Given the description of an element on the screen output the (x, y) to click on. 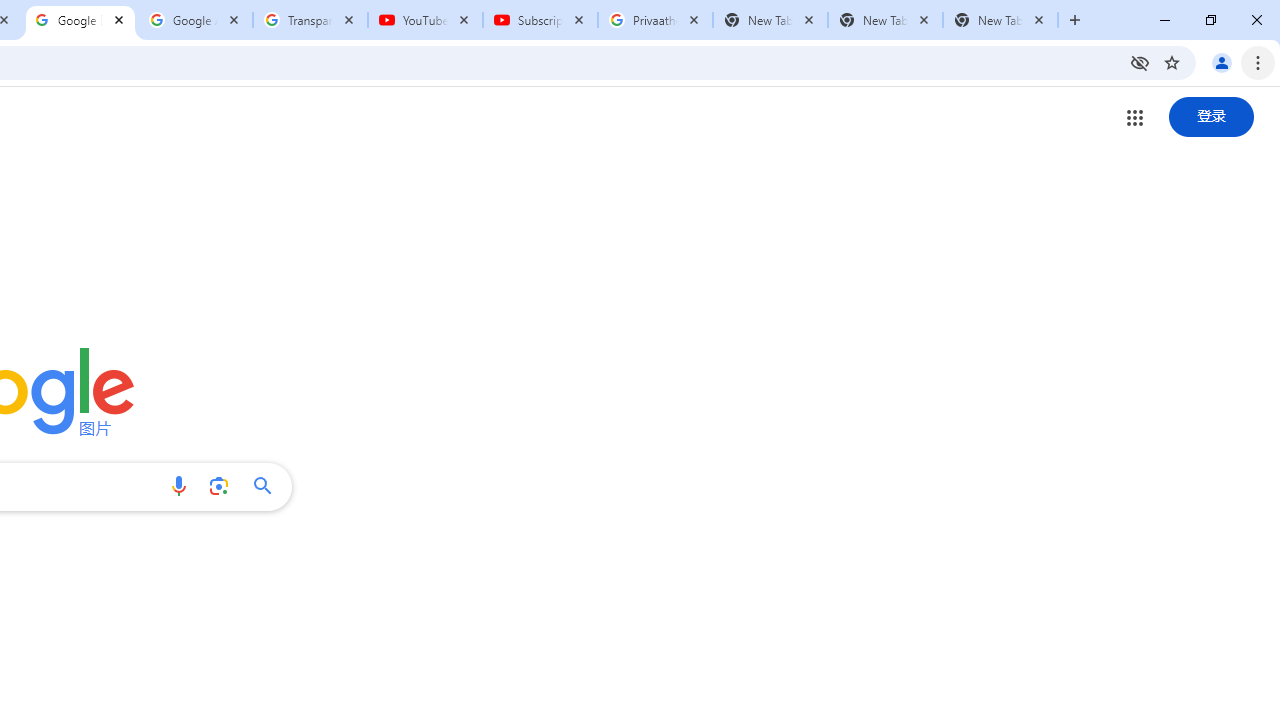
YouTube (424, 20)
